Given the description of an element on the screen output the (x, y) to click on. 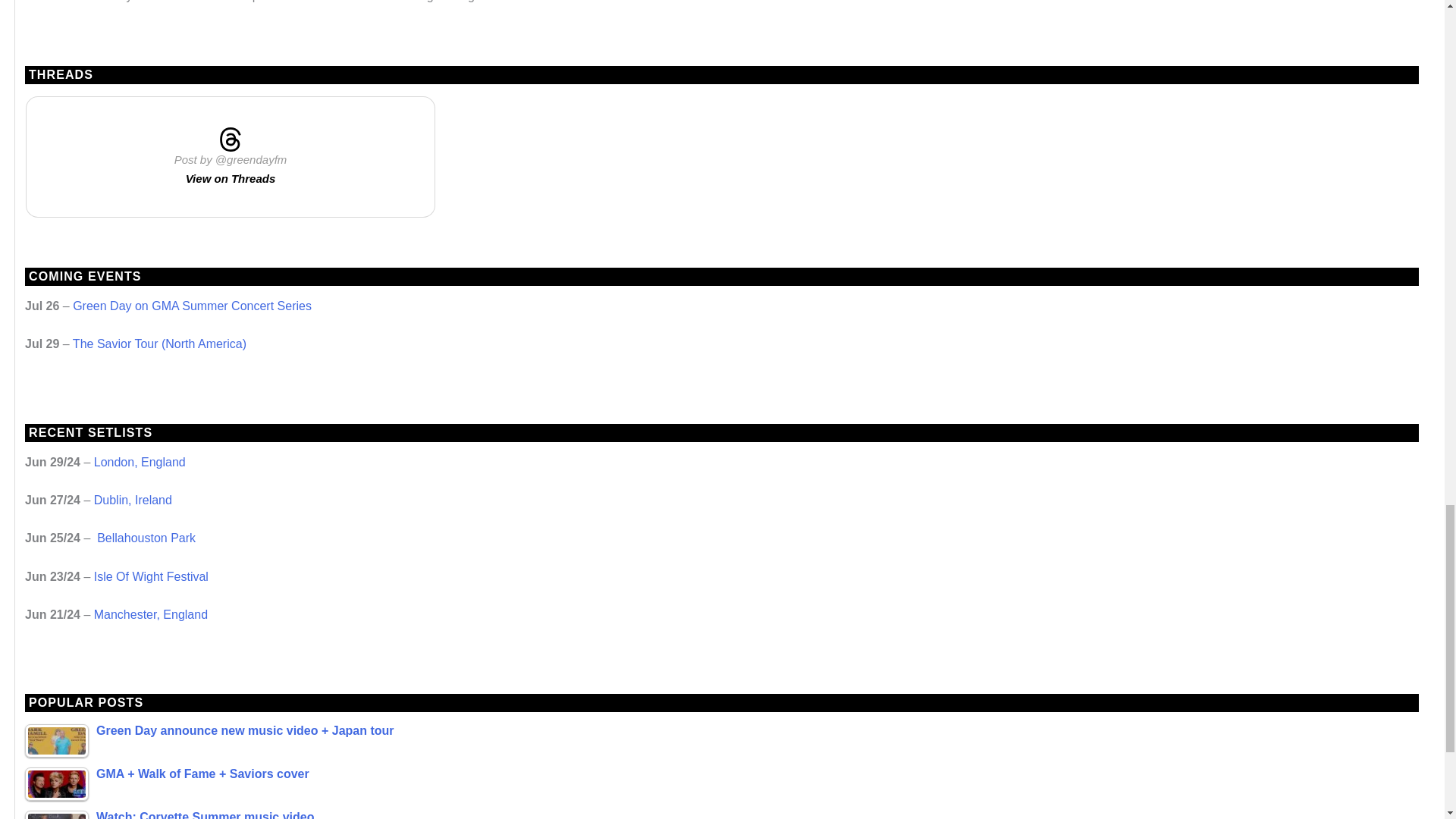
Watch: Corvette Summer music video (56, 814)
